Given the description of an element on the screen output the (x, y) to click on. 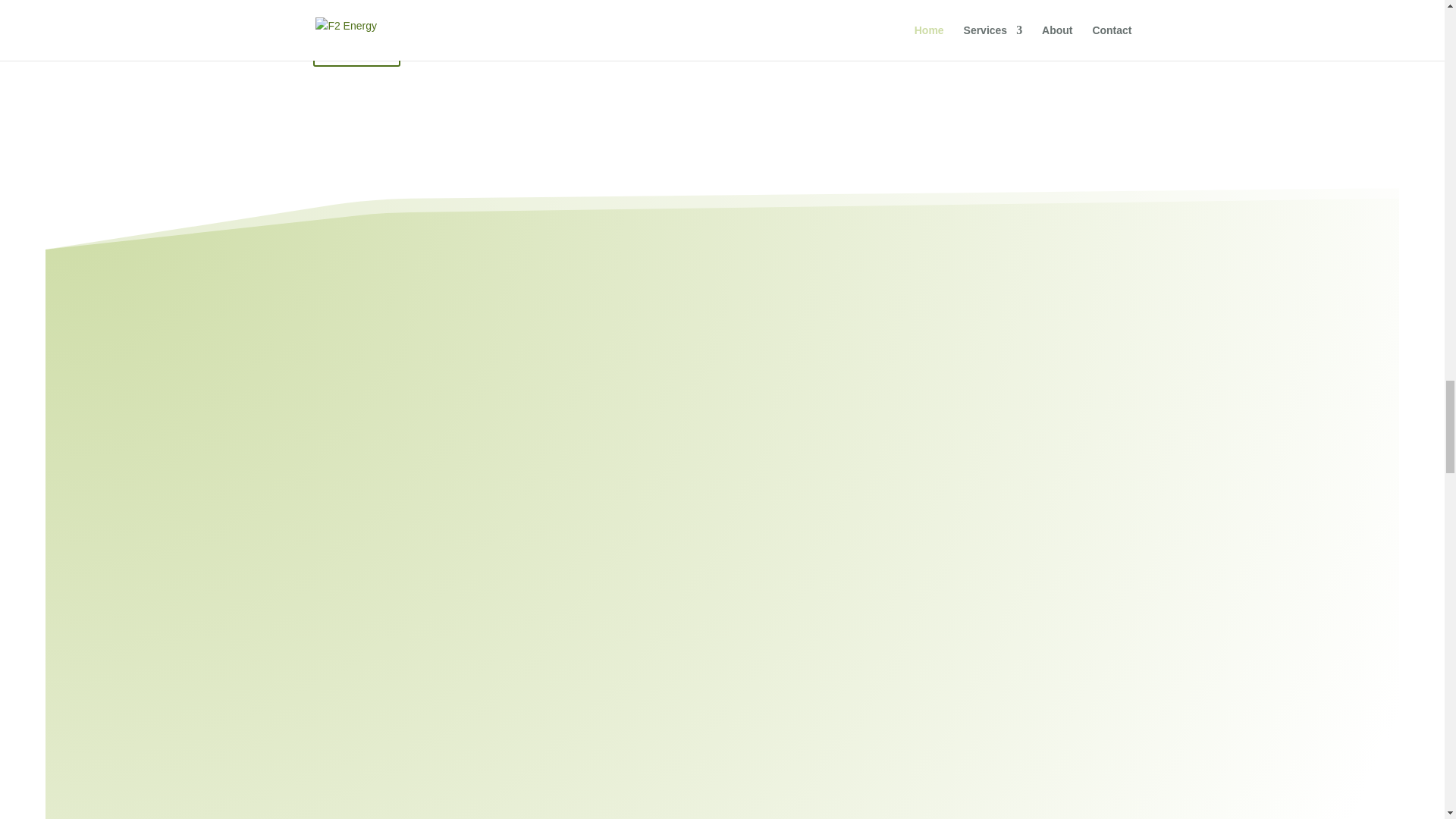
Get started (355, 51)
